Given the description of an element on the screen output the (x, y) to click on. 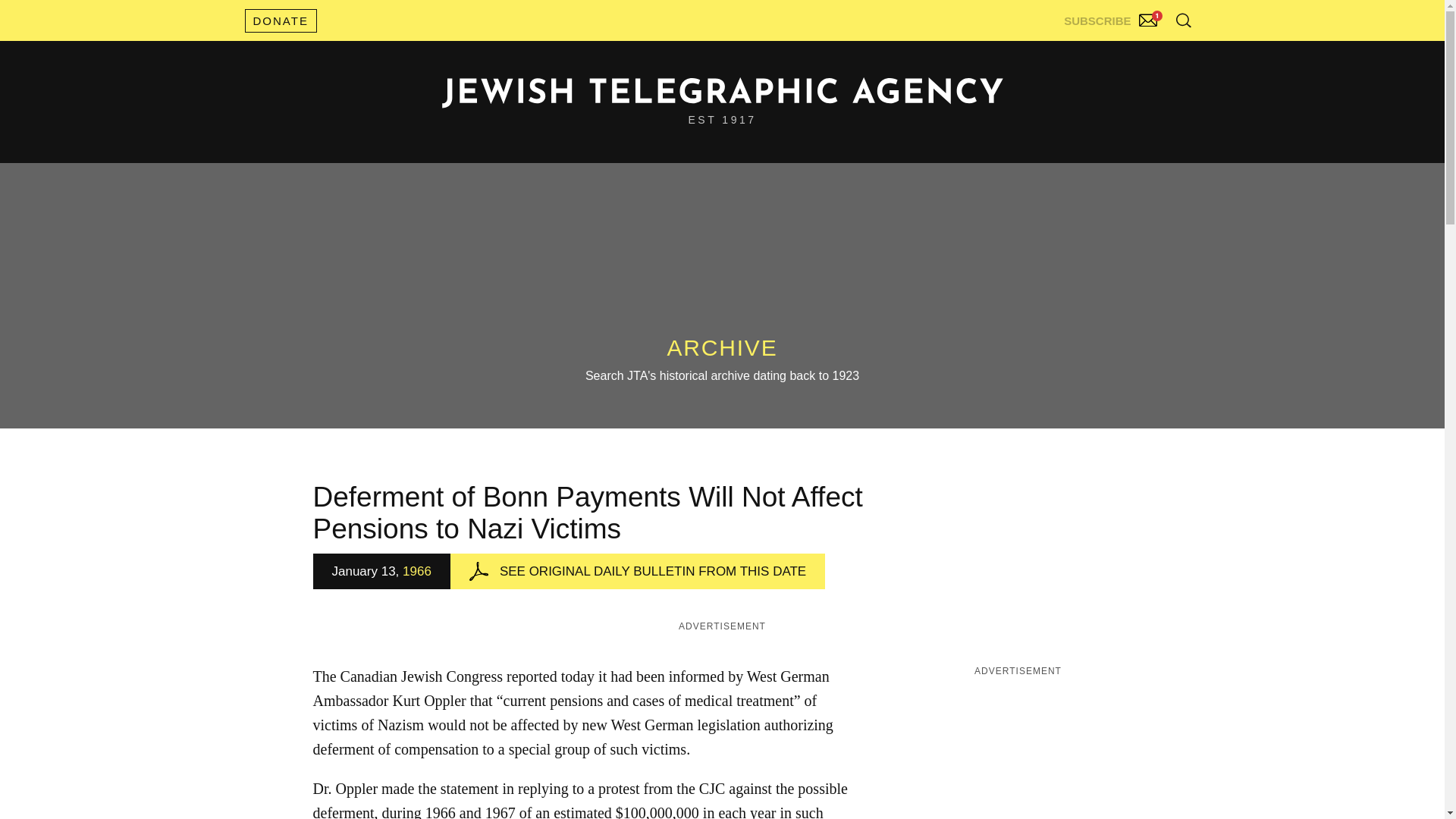
DONATE (279, 20)
Search (1144, 53)
SEARCH TOGGLESEARCH TOGGLE (1182, 20)
SUBSCRIBE (1112, 17)
